Given the description of an element on the screen output the (x, y) to click on. 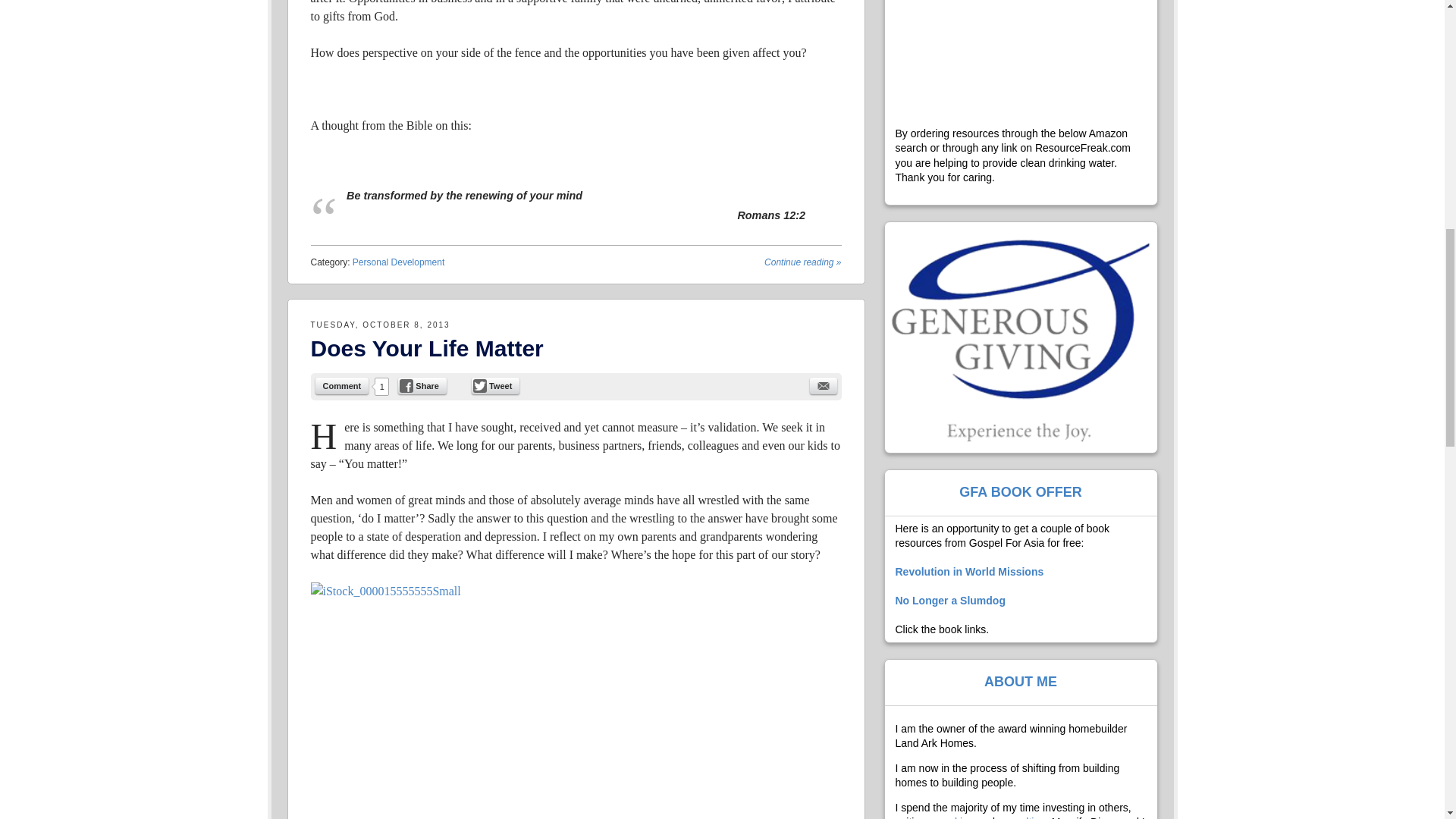
Comment (342, 385)
Tweet (495, 385)
Personal Development (398, 262)
email (823, 385)
Does Your Life Matter (427, 348)
Permalink to Does Your Life Matter (427, 348)
Share on Facebook (421, 385)
5 Principles for Personal Success (802, 262)
Share (421, 385)
Tweet this Post (495, 385)
Comment on this Post (342, 385)
